Given the description of an element on the screen output the (x, y) to click on. 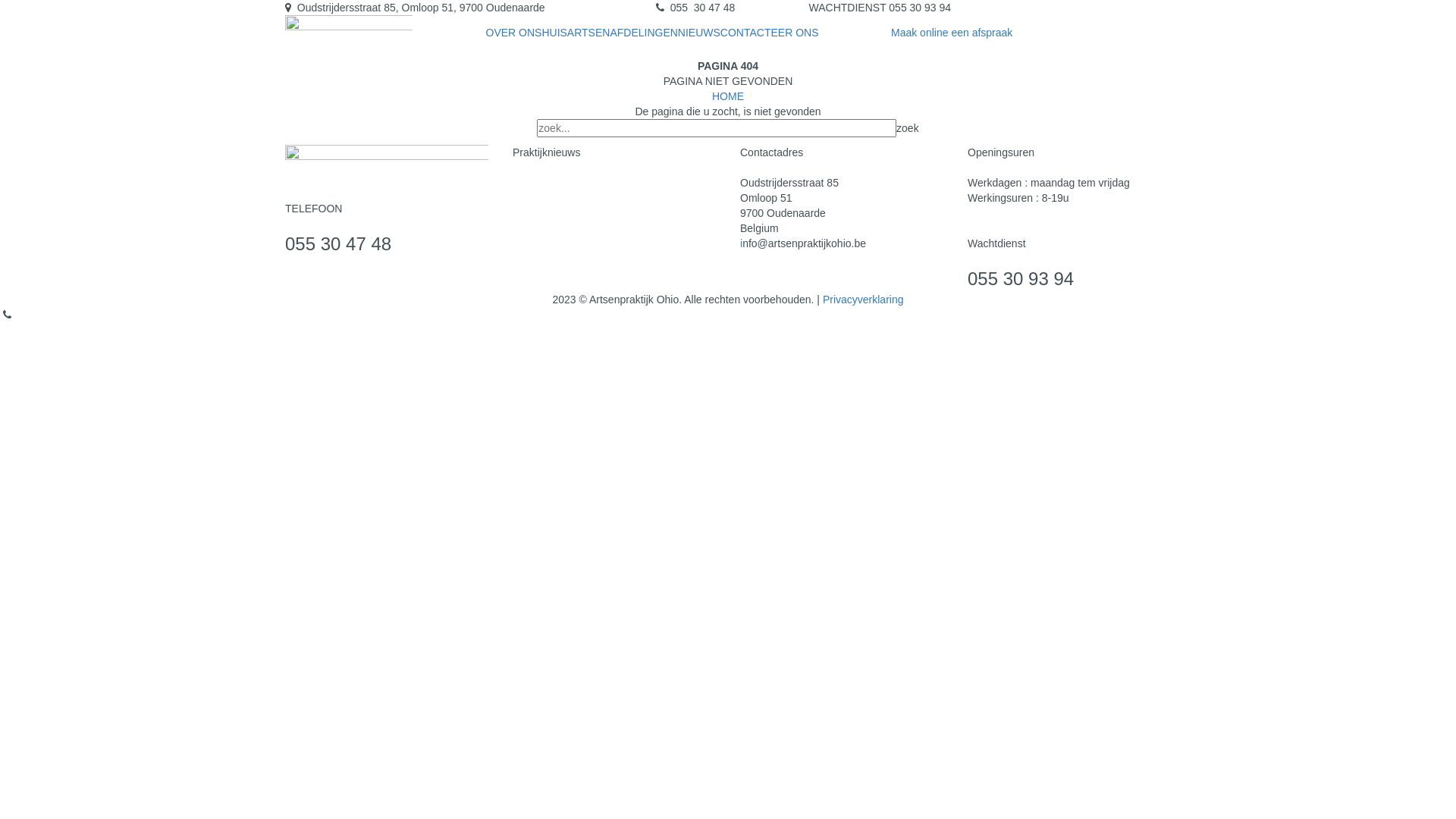
Privacyverklaring Element type: text (862, 299)
CONTACTEER ONS Element type: text (769, 32)
zoek Element type: text (907, 127)
AFDELINGEN Element type: text (643, 32)
Maak online een afspraak Element type: text (951, 32)
HUISARTSEN Element type: text (575, 32)
HOME Element type: text (727, 95)
OVER ONS Element type: text (513, 32)
i Element type: text (741, 243)
NIEUWS Element type: text (698, 32)
